Given the description of an element on the screen output the (x, y) to click on. 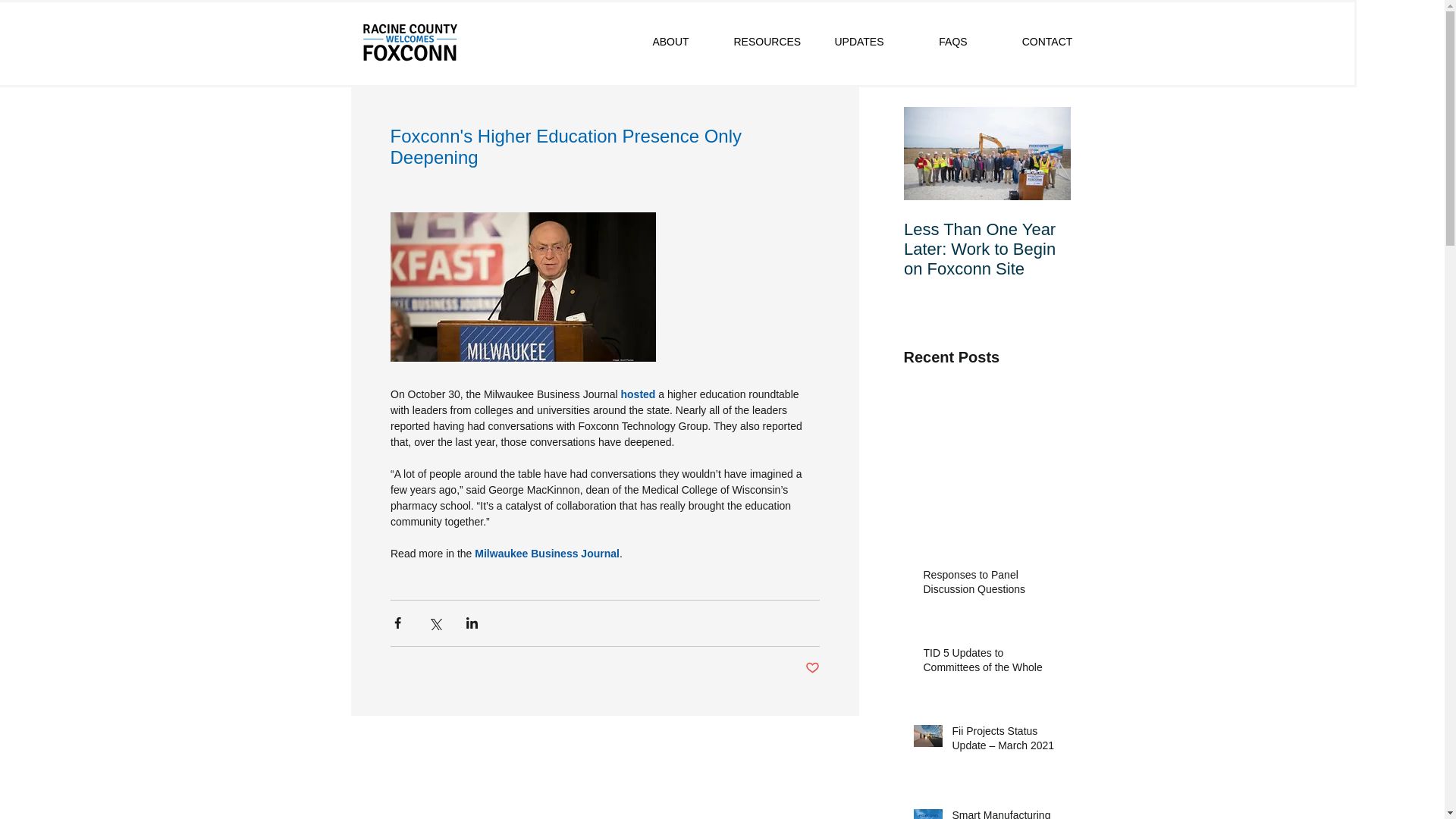
Less Than One Year Later: Work to Begin on Foxconn Site (987, 214)
Less Than One Year Later: Work to Begin on Foxconn Site (987, 214)
Responses to Panel Discussion Questions (992, 585)
hosted (637, 394)
Post not marked as liked (812, 668)
TID 5 Updates to Committees of the Whole (992, 663)
RESOURCES (763, 42)
Milwaukee Business Journal (547, 553)
Less Than One Year Later: Work to Begin on Foxconn Site (987, 249)
CONTACT (1045, 42)
Smart Manufacturing in Wisconsin - 2020 (1006, 813)
